Given the description of an element on the screen output the (x, y) to click on. 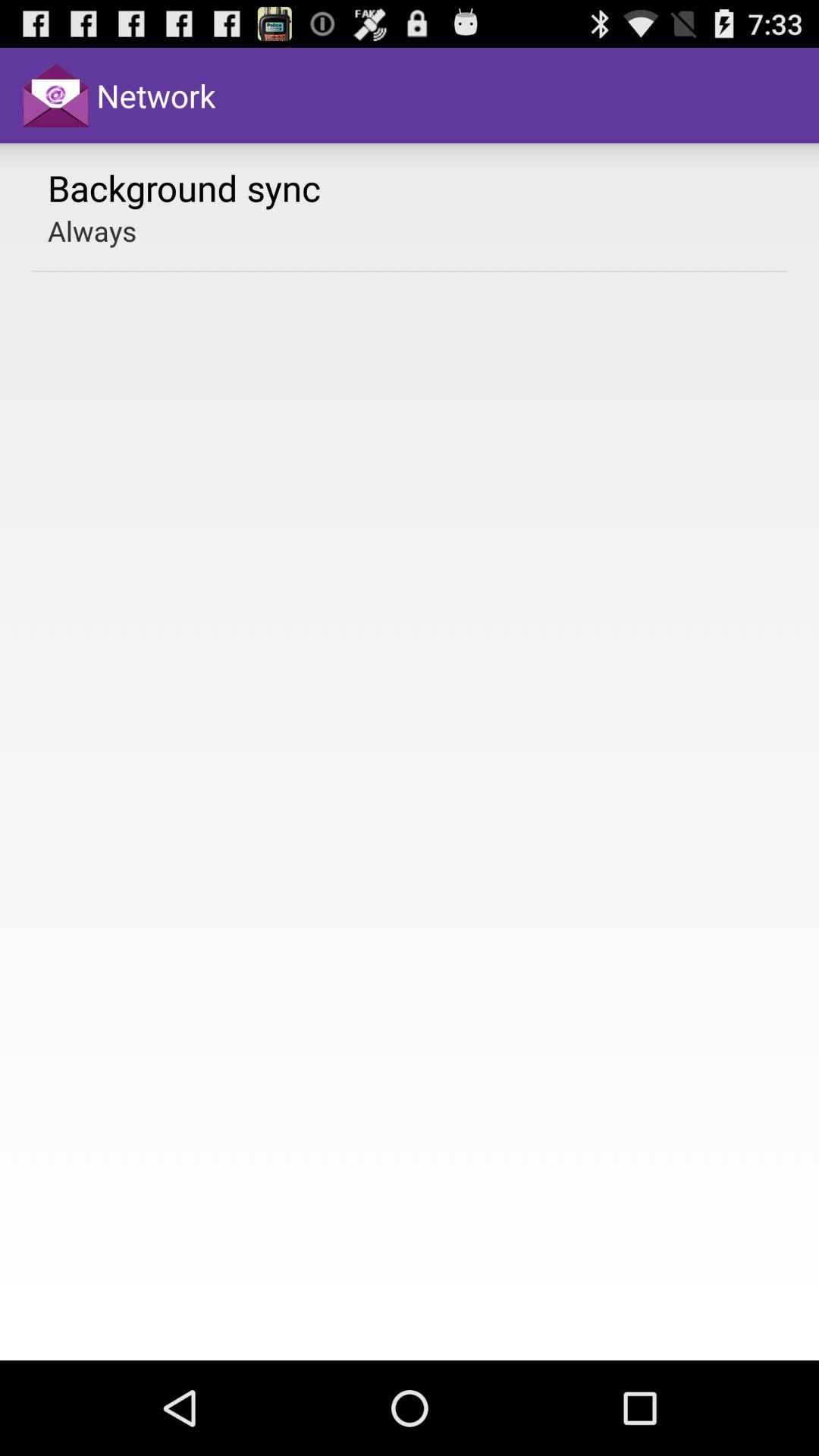
scroll until background sync item (183, 187)
